Given the description of an element on the screen output the (x, y) to click on. 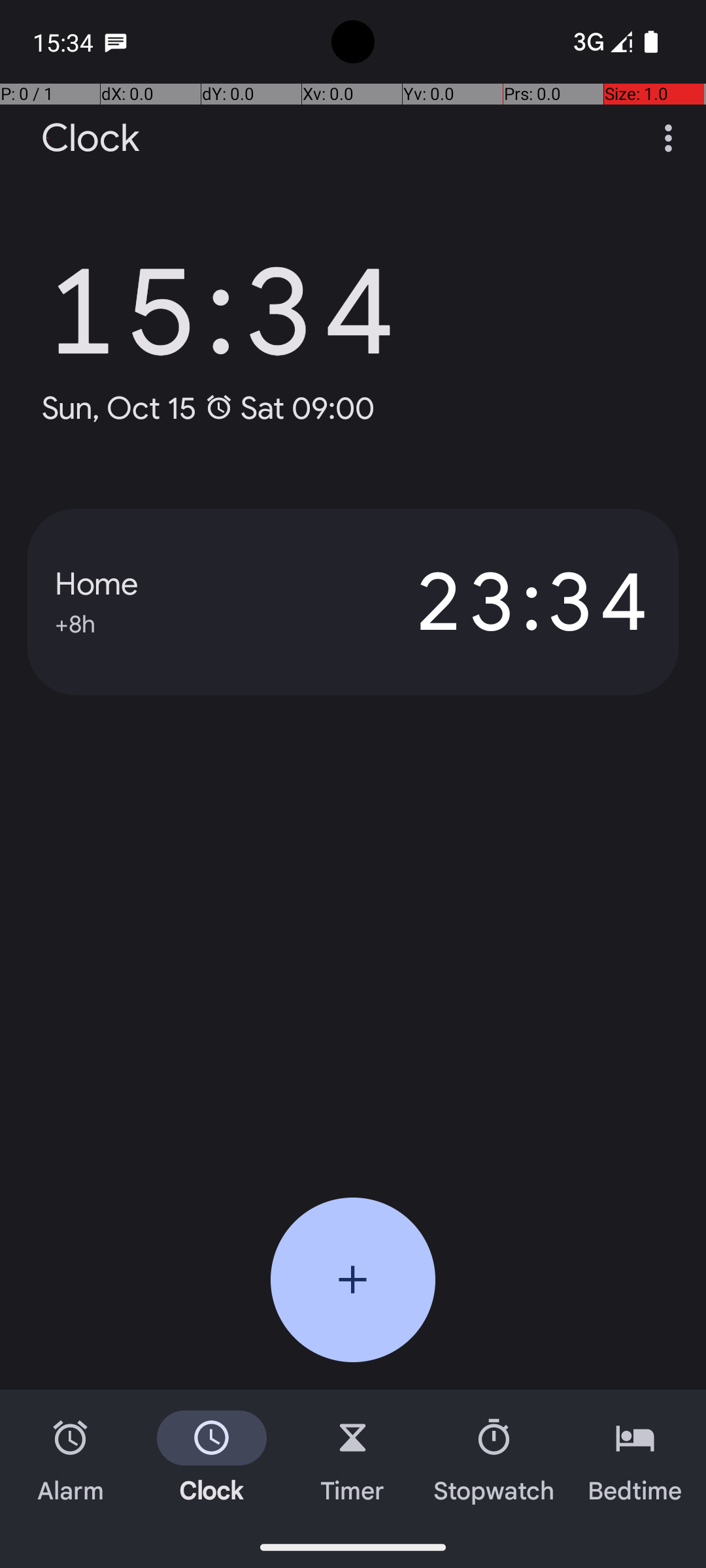
Sun, Oct 15 A Sat 09:00 Element type: android.widget.TextView (207, 407)
+8h Element type: android.widget.TextView (74, 621)
23:34 Element type: android.widget.TextView (502, 601)
SMS Messenger notification: Freya Hernandez Element type: android.widget.ImageView (115, 41)
